Given the description of an element on the screen output the (x, y) to click on. 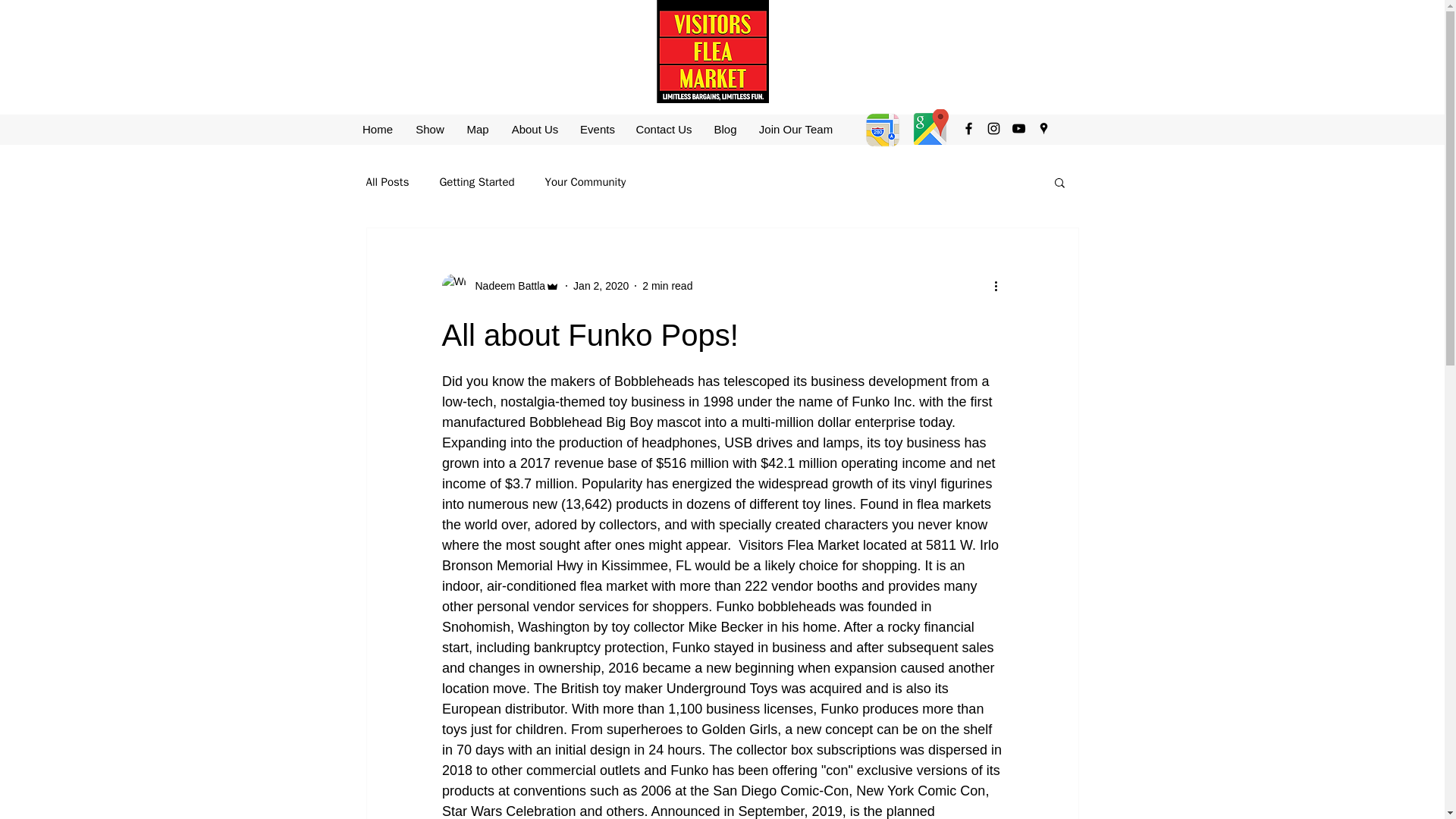
Join Our Team (795, 128)
Nadeem Battla  (504, 285)
2 min read (667, 285)
Contact Us (662, 128)
Nadeem Battla (500, 285)
Blog (724, 128)
Jan 2, 2020 (600, 285)
Show (429, 128)
Getting Started (476, 181)
Events (598, 128)
All Posts (387, 181)
About Us (535, 128)
Home (377, 128)
Map (476, 128)
Your Community (585, 181)
